Given the description of an element on the screen output the (x, y) to click on. 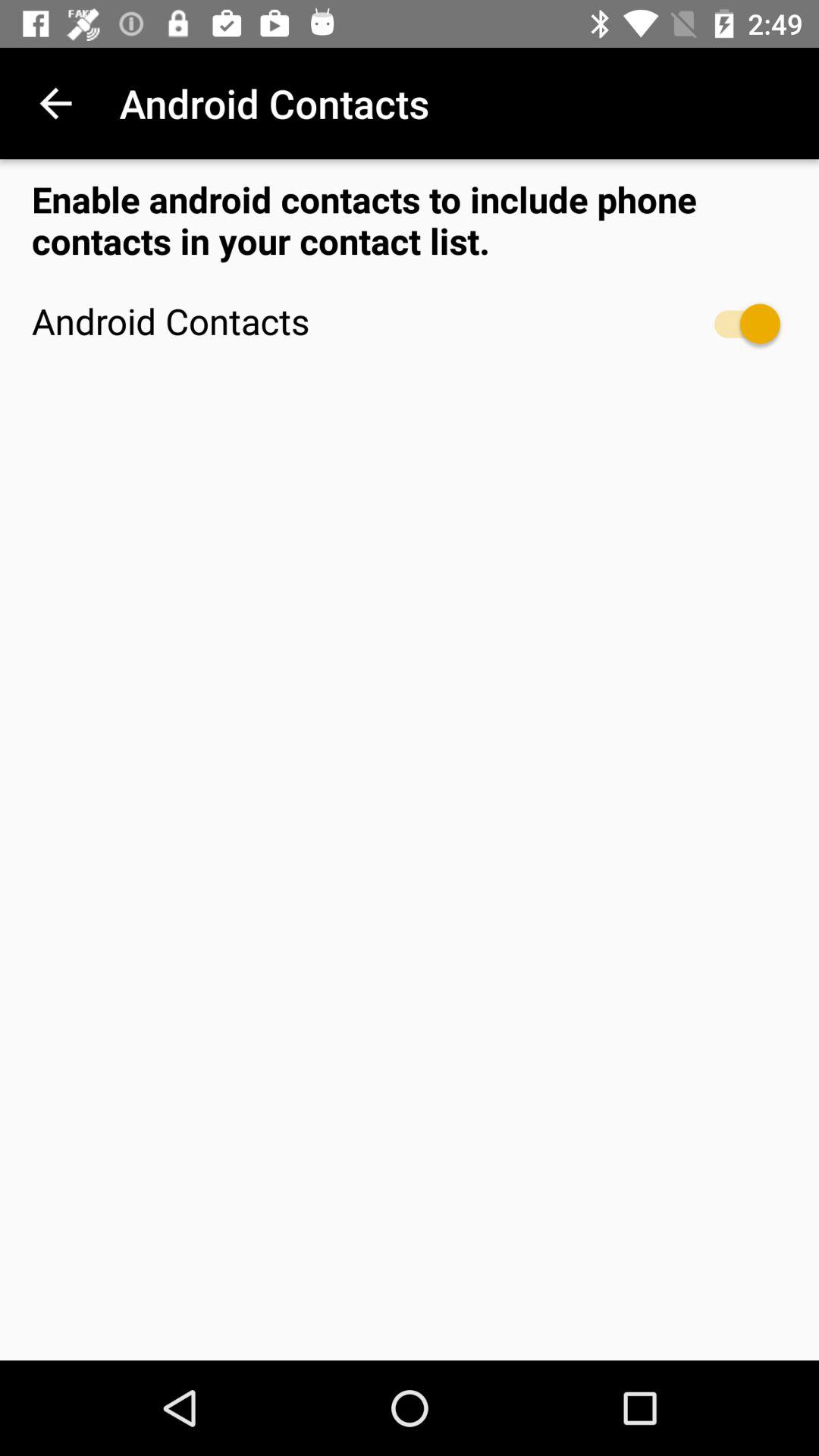
launch item above the enable android contacts icon (55, 103)
